Given the description of an element on the screen output the (x, y) to click on. 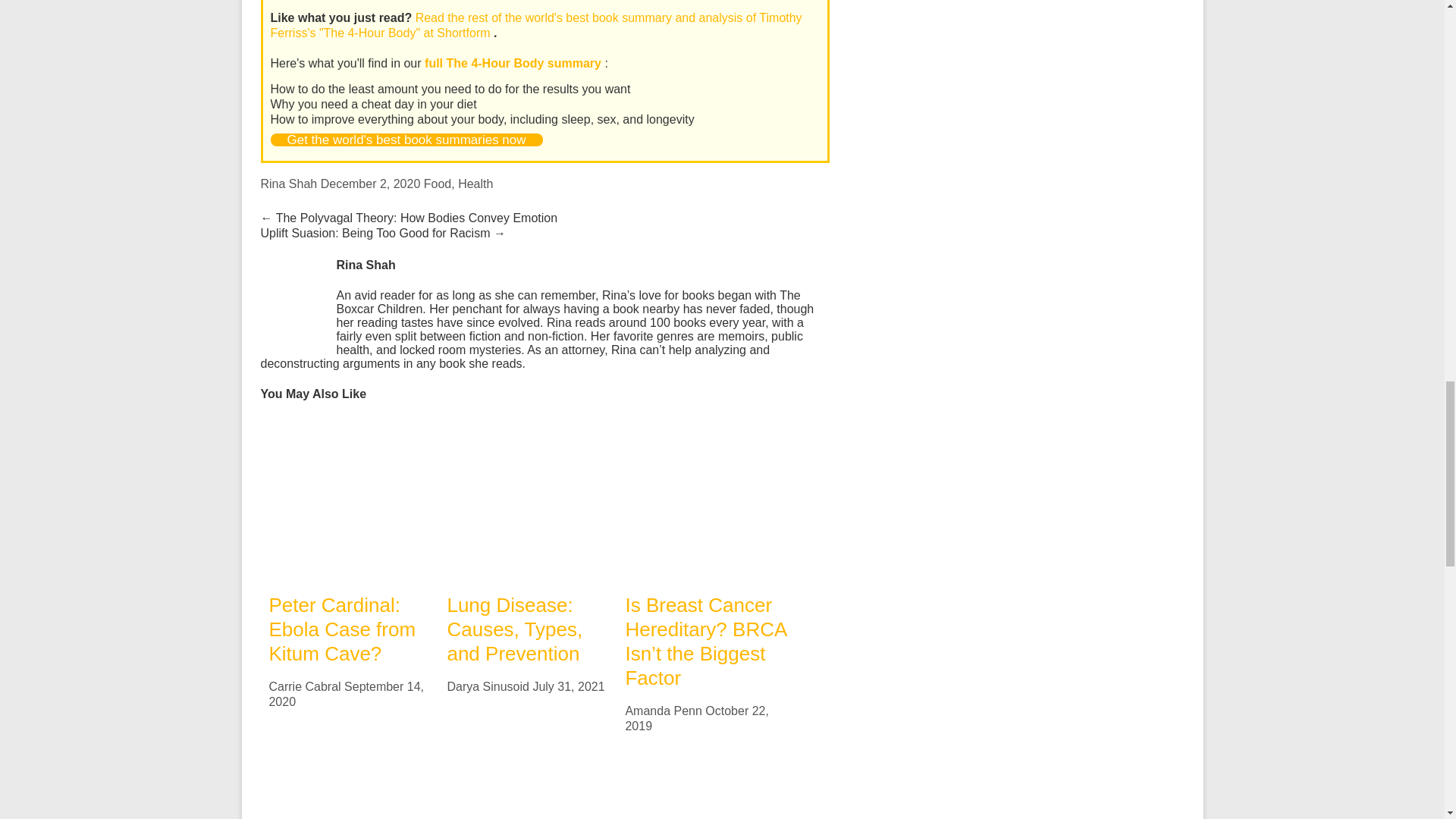
Health (475, 183)
7:43 pm (568, 686)
Get the world's best book summaries now (405, 139)
Carrie Cabral (303, 686)
Peter Cardinal: Ebola Case from Kitum Cave? (348, 424)
10:42 pm (370, 183)
Rina Shah (288, 183)
1:56 pm (345, 694)
December 2, 2020 (370, 183)
Peter Cardinal: Ebola Case from Kitum Cave? (348, 498)
